Given the description of an element on the screen output the (x, y) to click on. 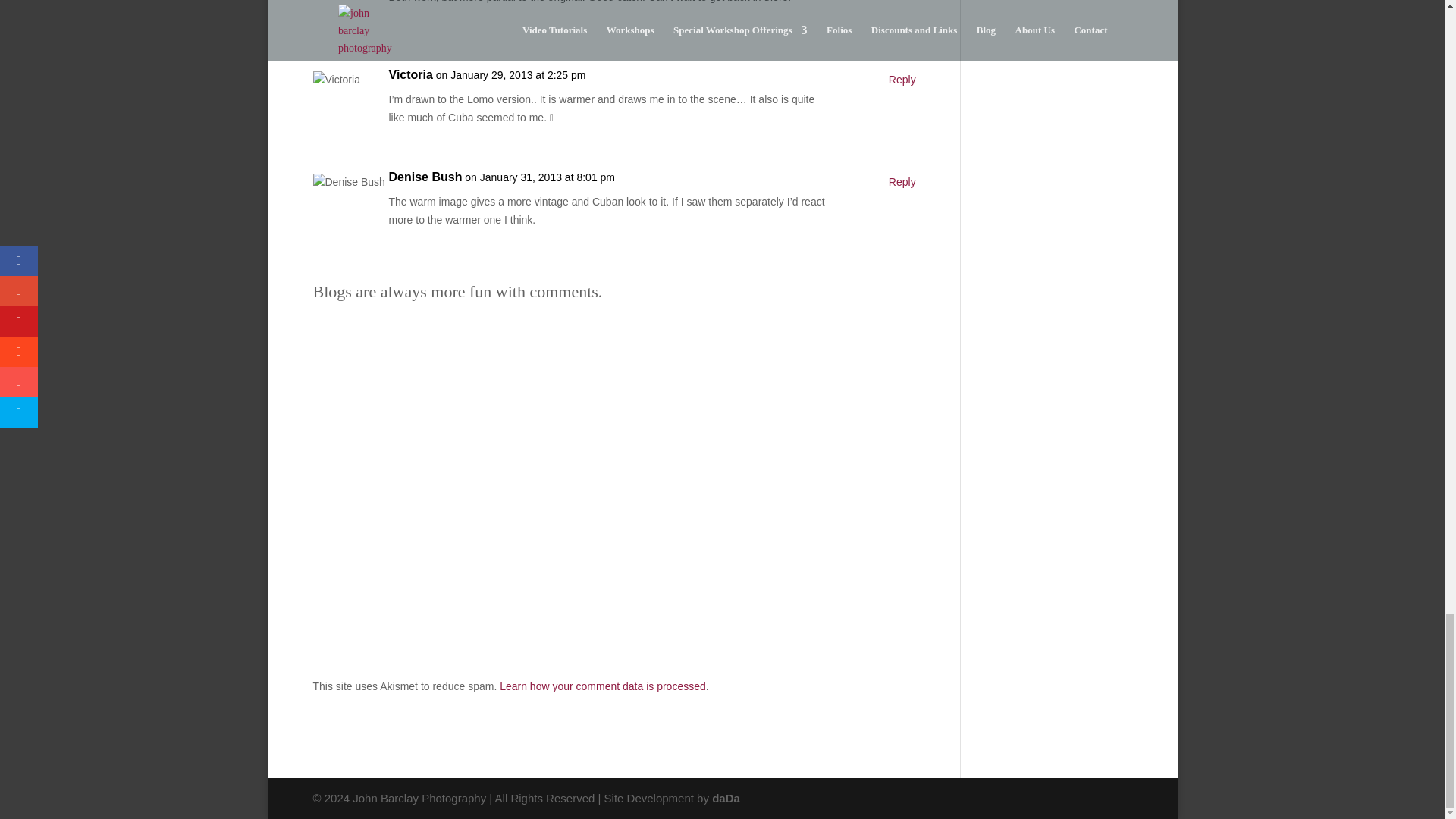
Reply (901, 80)
Reply (901, 182)
Victoria (410, 75)
Denise Bush (424, 177)
